Given the description of an element on the screen output the (x, y) to click on. 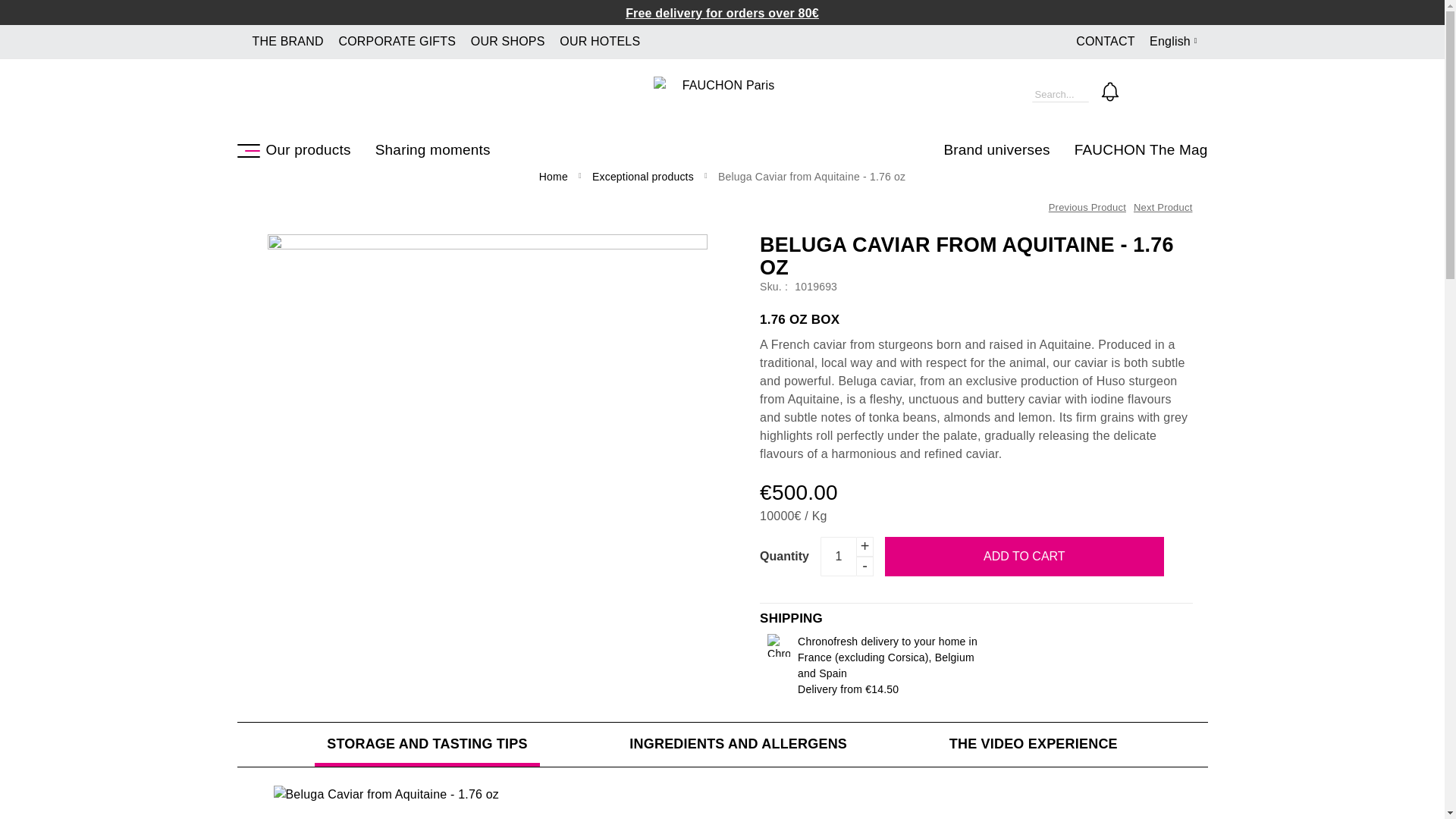
Search (1019, 93)
Contact (1104, 41)
Our shops (507, 41)
My account (1140, 90)
CONTACT (1104, 41)
FAUCHON Paris (721, 90)
1 (839, 556)
Search (1019, 93)
CORPORATE GIFTS (396, 41)
OUR SHOPS (507, 41)
